Given the description of an element on the screen output the (x, y) to click on. 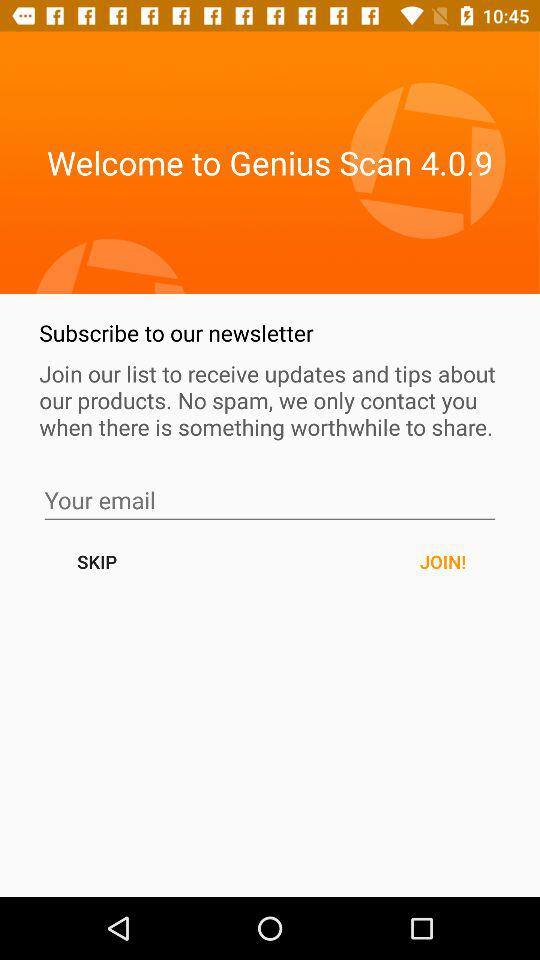
email (269, 500)
